Given the description of an element on the screen output the (x, y) to click on. 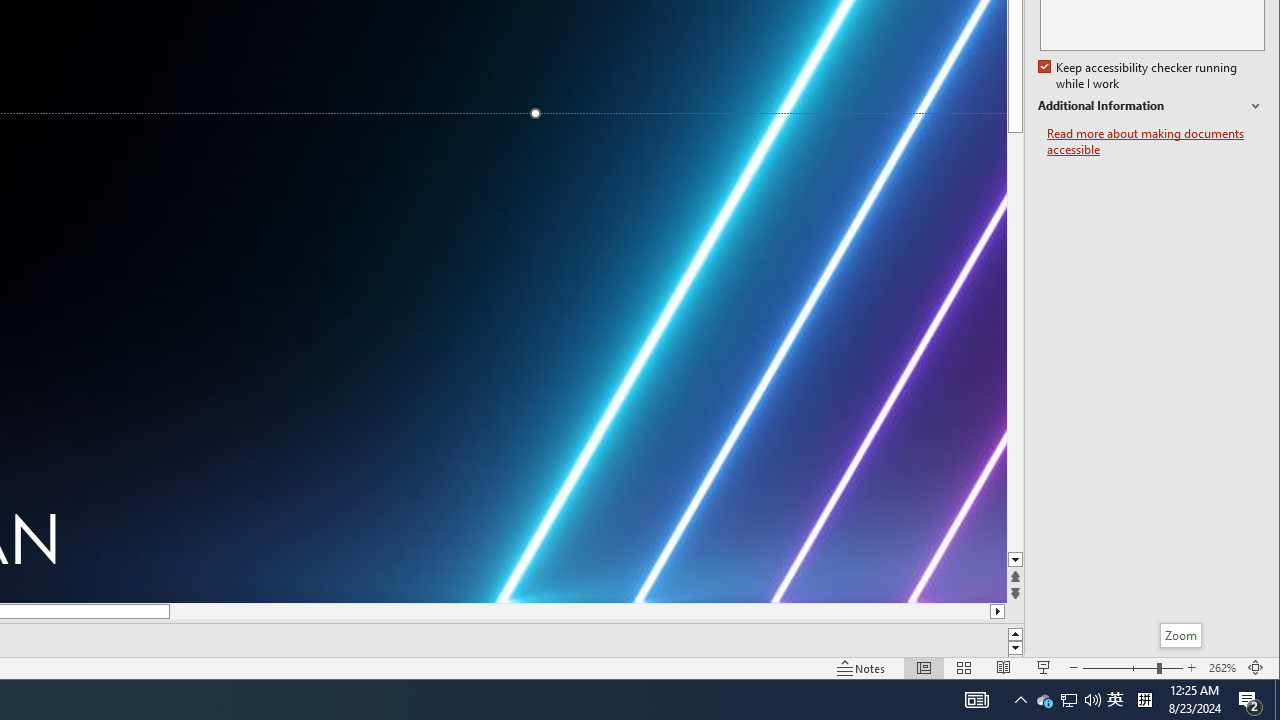
User Promoted Notification Area (1068, 699)
Read more about making documents accessible (1155, 142)
Zoom Out (1119, 668)
AutomationID: 4105 (976, 699)
Zoom 262% (1222, 668)
Show desktop (1069, 699)
Notification Chevron (1277, 699)
Additional Information (1020, 699)
Q2790: 100% (1151, 106)
Action Center, 2 new notifications (1092, 699)
